Given the description of an element on the screen output the (x, y) to click on. 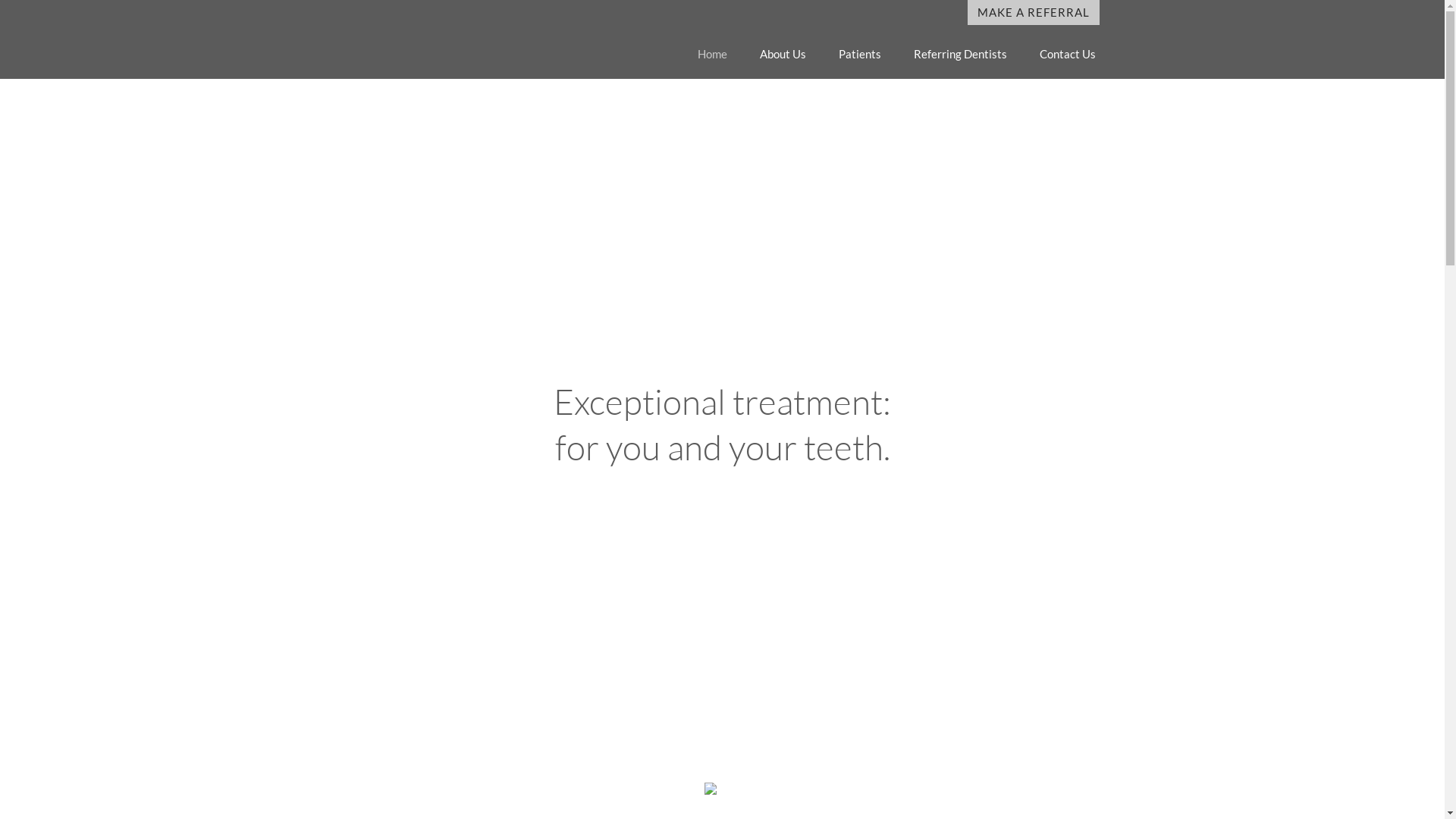
Yokine Endodontics Element type: text (445, 39)
Home Element type: text (712, 54)
About Us Element type: text (782, 54)
Contact Us Element type: text (1066, 54)
MAKE A REFERRAL Element type: text (1033, 12)
Referring Dentists Element type: text (959, 54)
Patients Element type: text (859, 54)
